Given the description of an element on the screen output the (x, y) to click on. 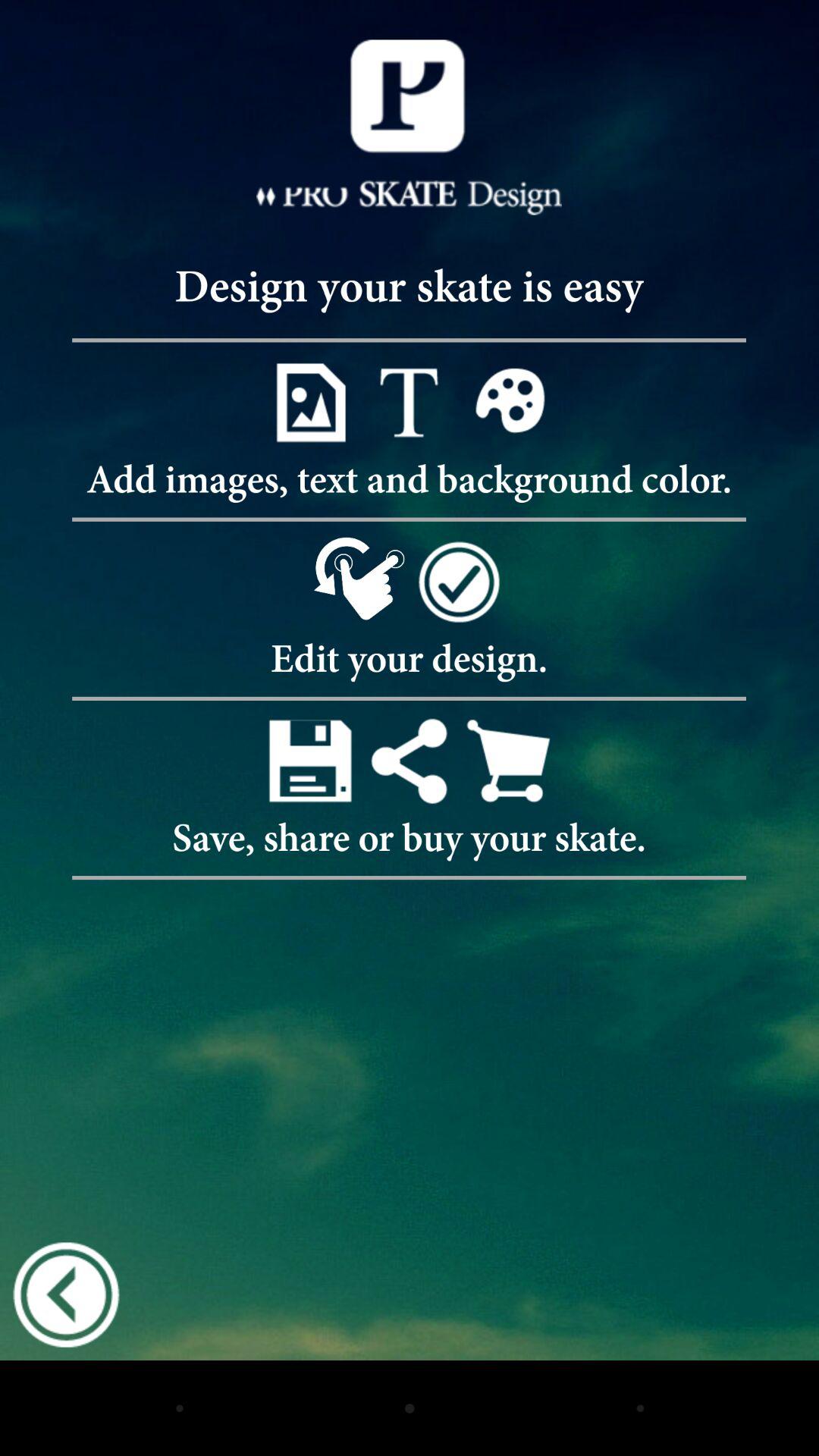
share skate (408, 760)
